Given the description of an element on the screen output the (x, y) to click on. 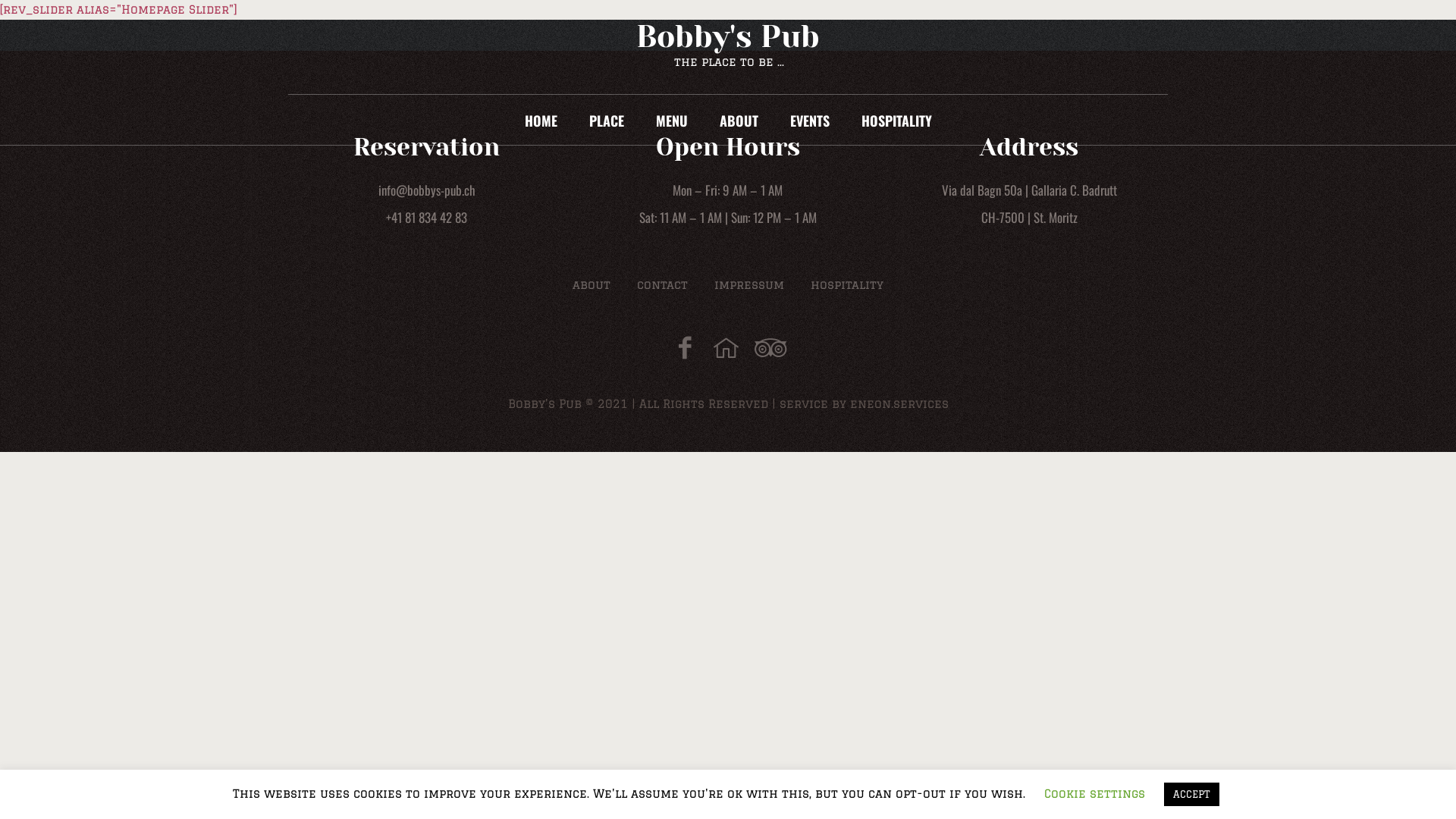
hospitality Element type: text (846, 284)
Facebook Element type: hover (684, 347)
Cookie settings Element type: text (1094, 793)
Bobby's Pub
the place to be ... Element type: text (727, 46)
EVENTS Element type: text (808, 120)
about Element type: text (591, 284)
HOME Element type: text (540, 120)
HOSPITALITY Element type: text (895, 120)
impressum Element type: text (749, 284)
info@bobbys-pub.ch Element type: text (426, 189)
contact Element type: text (662, 284)
PLACE Element type: text (606, 120)
ACCEPT Element type: text (1191, 794)
MENU Element type: text (671, 120)
tripadvisor Element type: hover (766, 347)
ABOUT Element type: text (738, 120)
hospitality Element type: hover (725, 347)
